Given the description of an element on the screen output the (x, y) to click on. 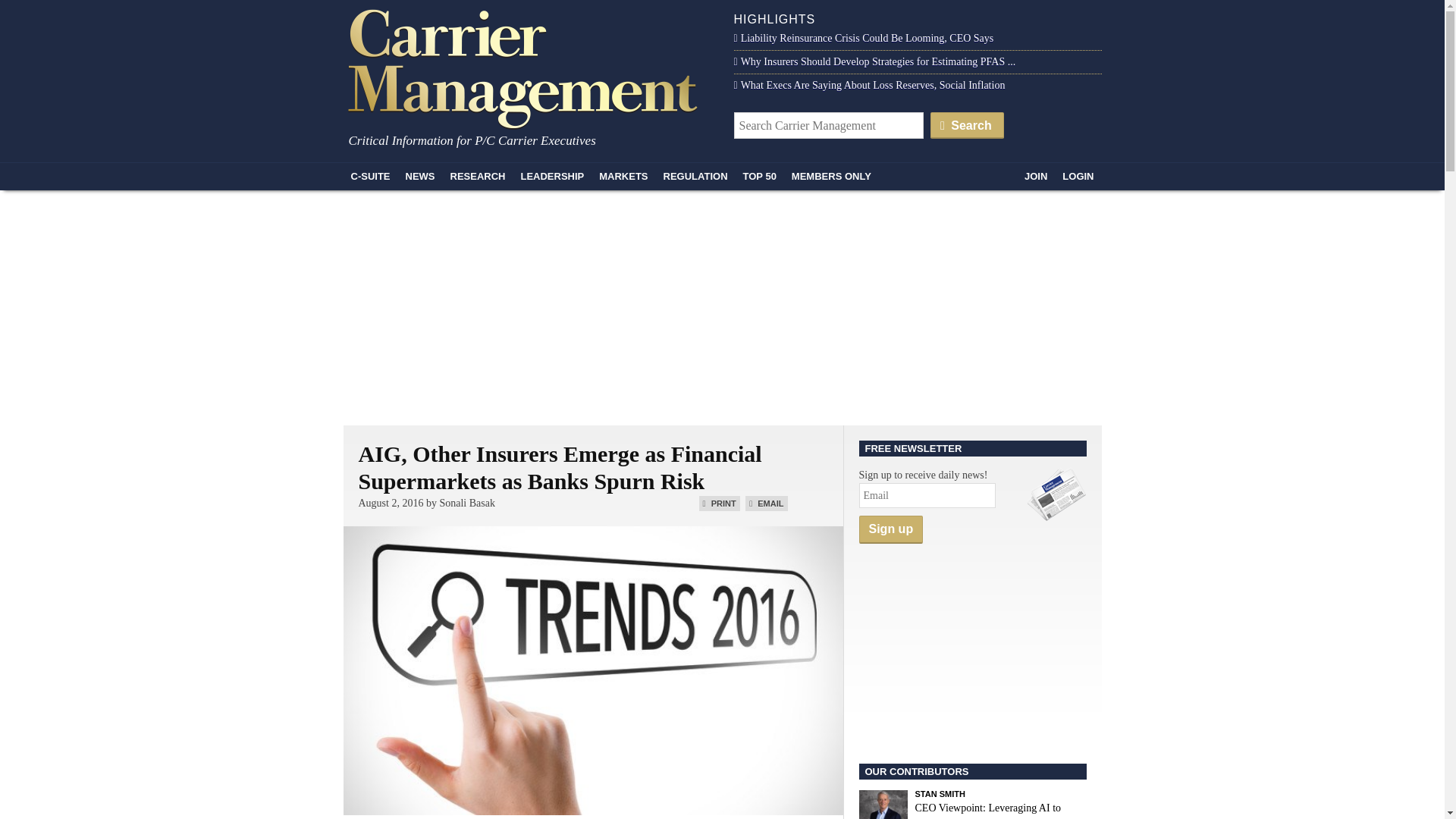
C-SUITE (369, 176)
REGULATION (695, 176)
LOGIN (1077, 176)
RESEARCH (477, 176)
MEMBERS ONLY (831, 176)
JOIN (1035, 176)
NEWS (419, 176)
Search (967, 125)
MARKETS (623, 176)
Liability Reinsurance Crisis Could Be Looming, CEO Says (863, 38)
TOP 50 (759, 176)
LEADERSHIP (551, 176)
Carrier Management (527, 67)
What Execs Are Saying About Loss Reserves, Social Inflation (869, 84)
